Given the description of an element on the screen output the (x, y) to click on. 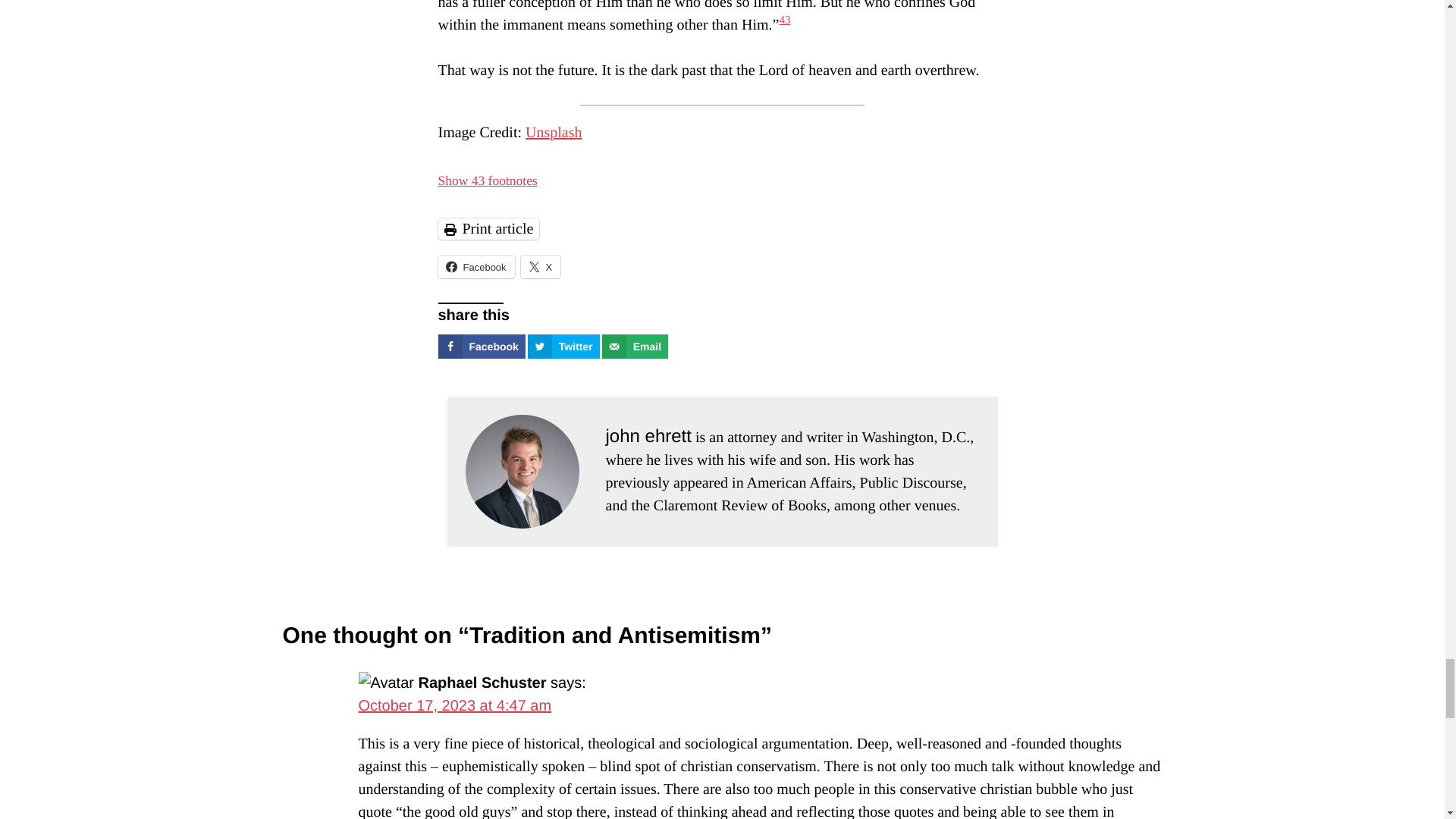
Click to share on Facebook (476, 266)
Send over email (635, 346)
Share on Twitter (563, 346)
Click to share on X (540, 266)
Share on Facebook (481, 346)
